Given the description of an element on the screen output the (x, y) to click on. 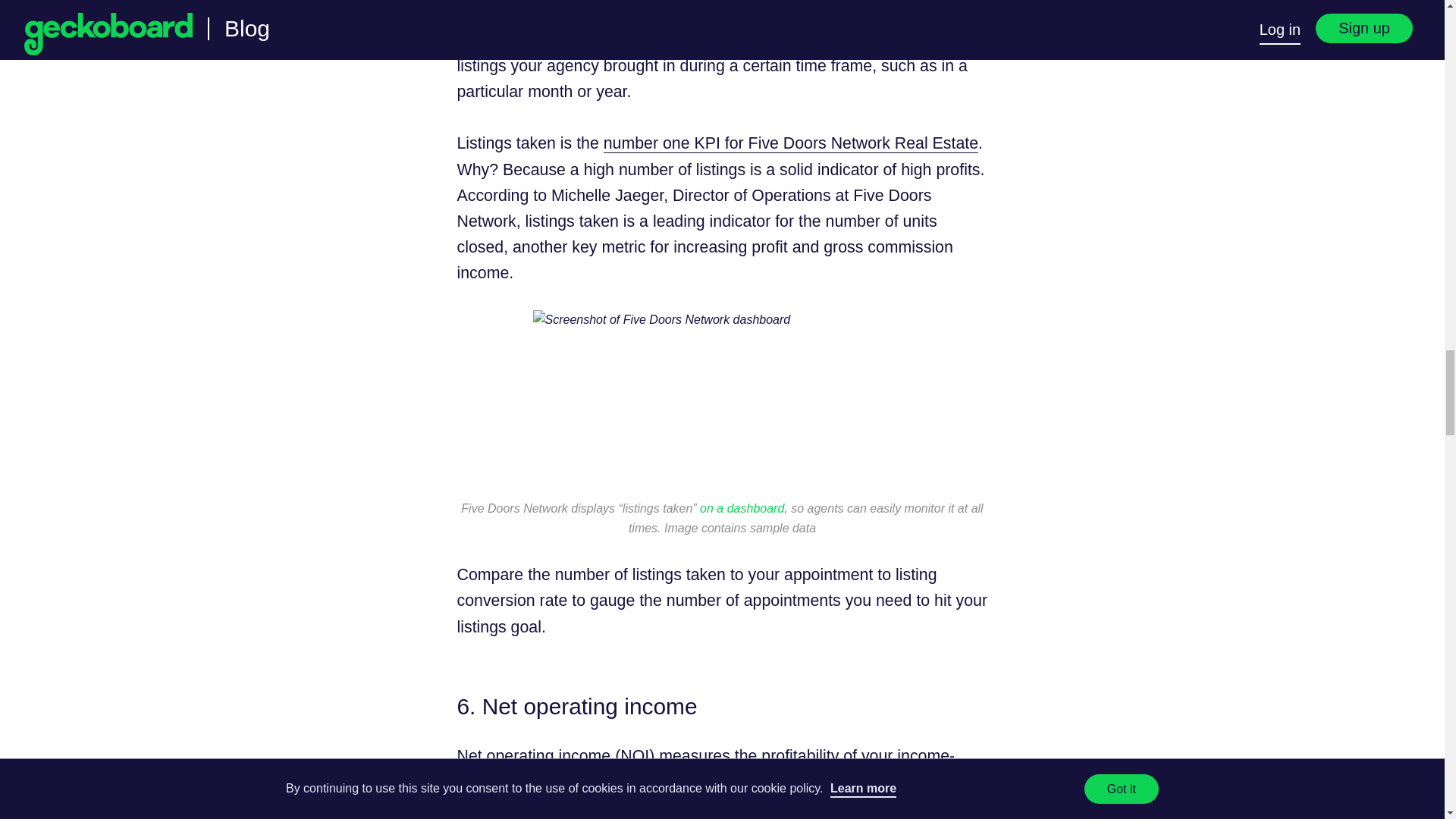
on a dashboard (742, 508)
number one KPI for Five Doors Network Real Estate (791, 143)
Net operating income (533, 755)
